Given the description of an element on the screen output the (x, y) to click on. 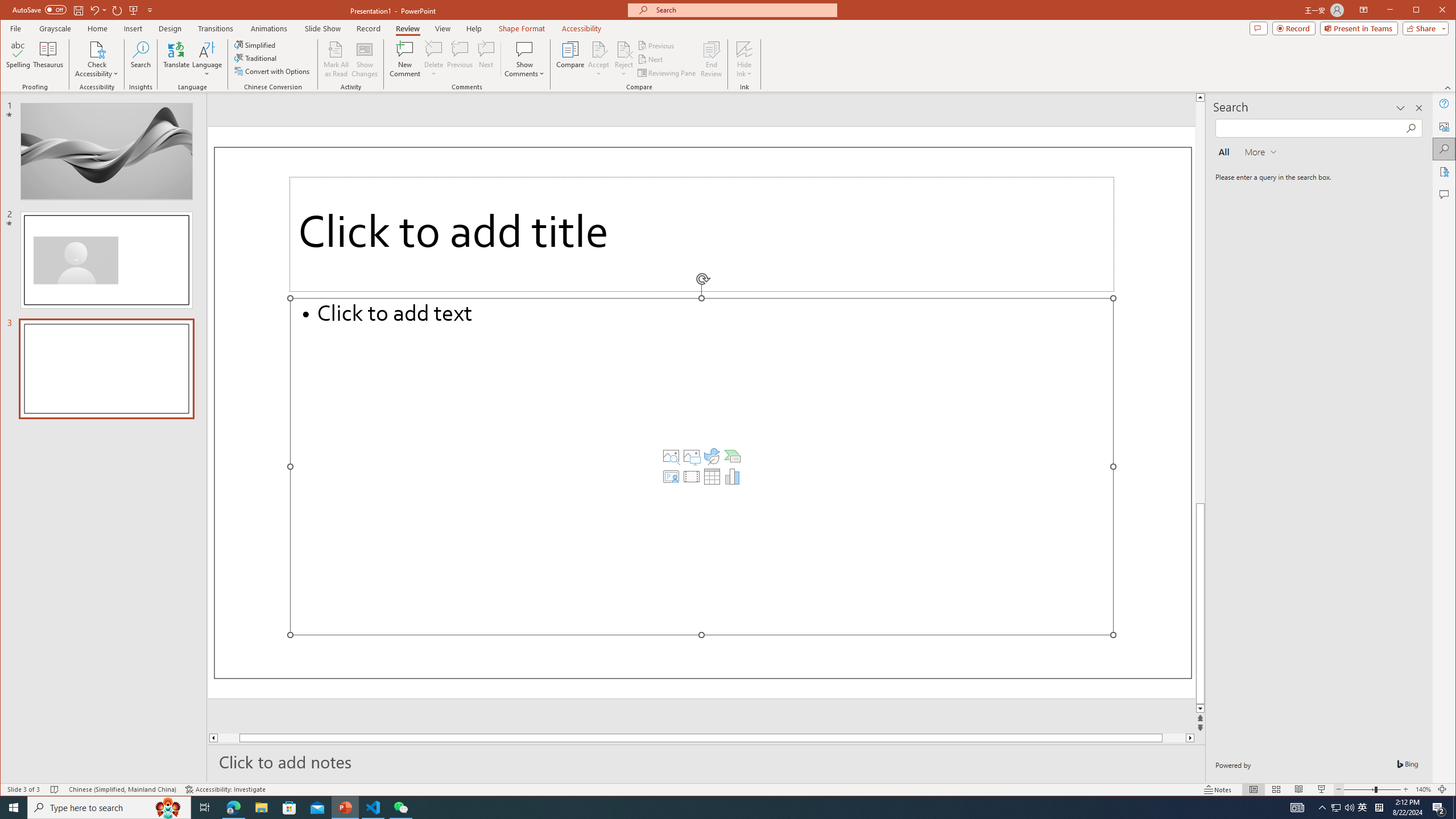
Line up (1200, 96)
Spelling... (18, 59)
